Given the description of an element on the screen output the (x, y) to click on. 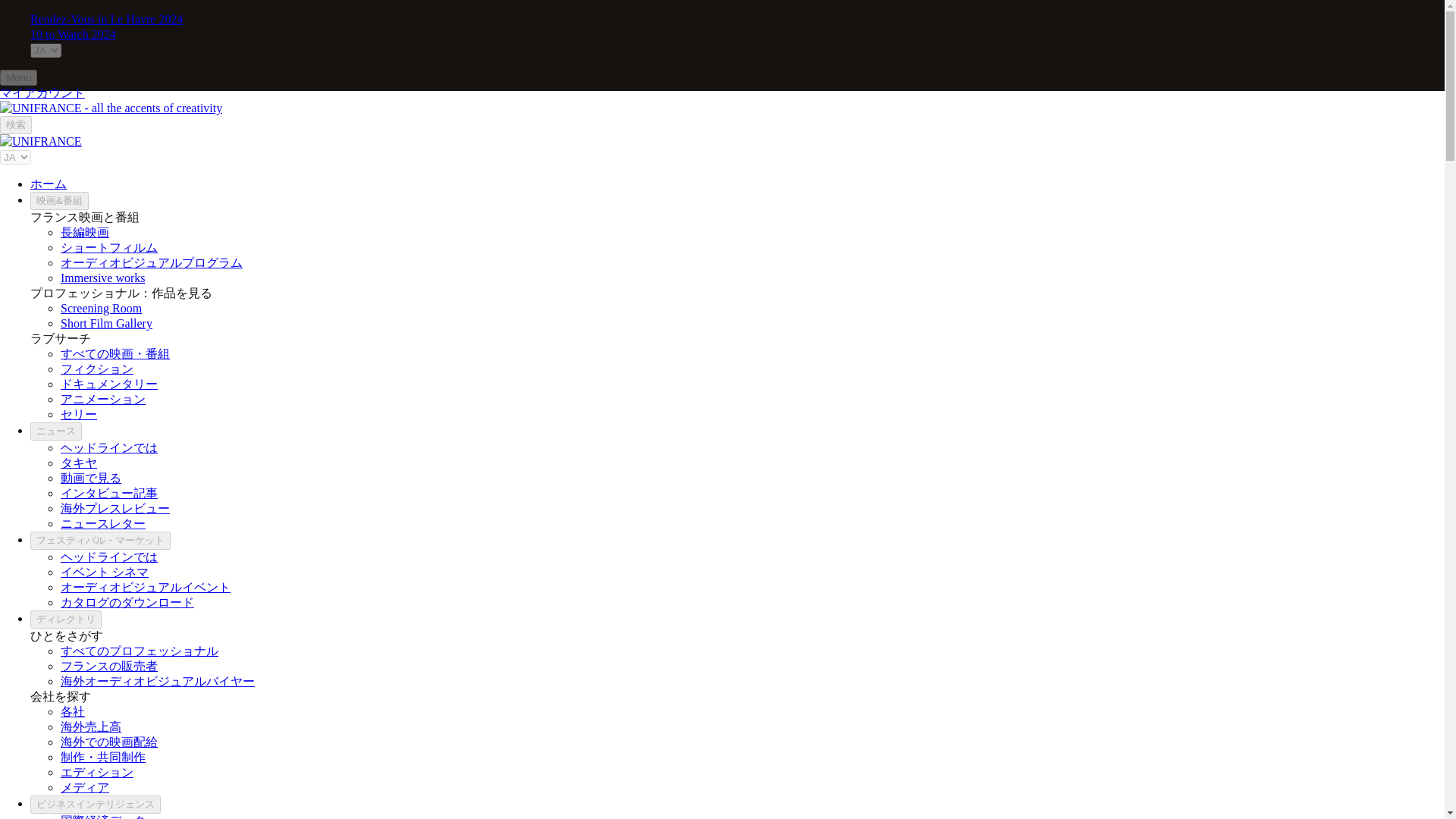
Screening Room (101, 308)
Menu (18, 77)
Short Film Gallery (106, 323)
10 to Watch 2024 (73, 33)
Immersive works (103, 277)
Rendez-Vous in Le Havre 2024 (106, 19)
